Given the description of an element on the screen output the (x, y) to click on. 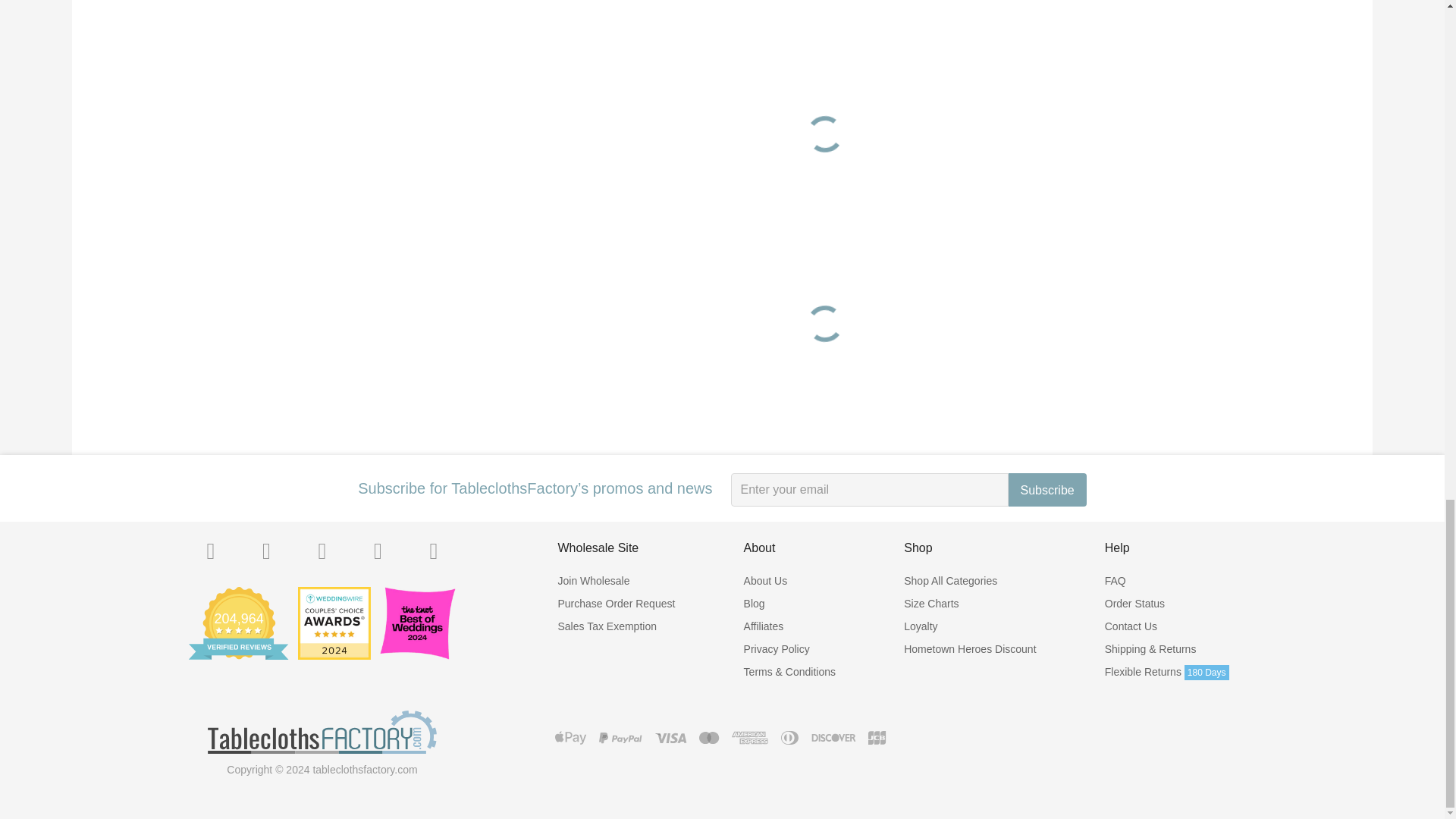
WeddingWire Couples' Choice Award Winner 2024 (334, 623)
